Given the description of an element on the screen output the (x, y) to click on. 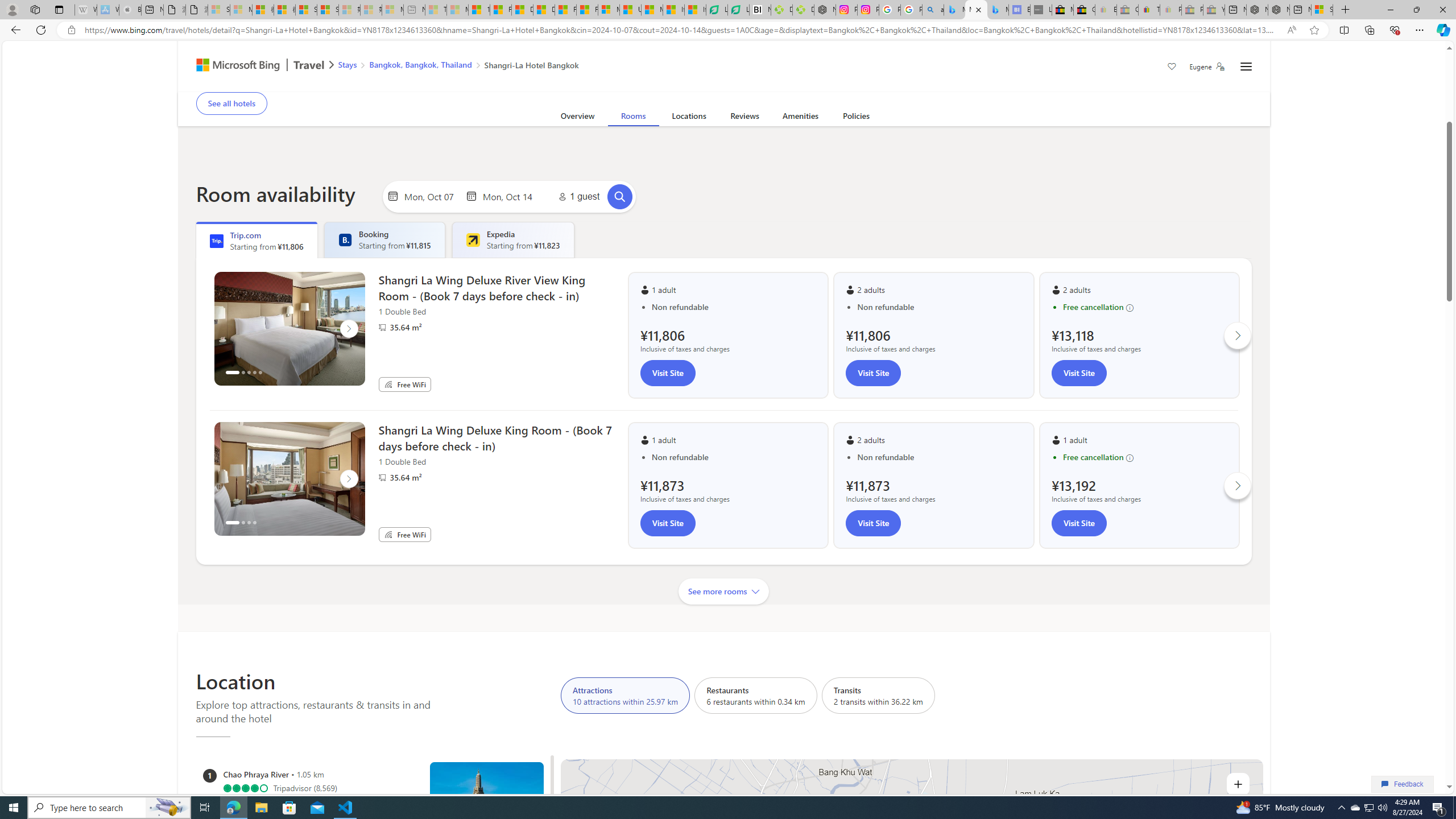
Save (1171, 67)
Expedia (472, 239)
1 guest (577, 196)
Transits 2 transits within 36.22 km (878, 695)
Rooms (633, 118)
Amenities (800, 118)
Start Date (431, 196)
